Given the description of an element on the screen output the (x, y) to click on. 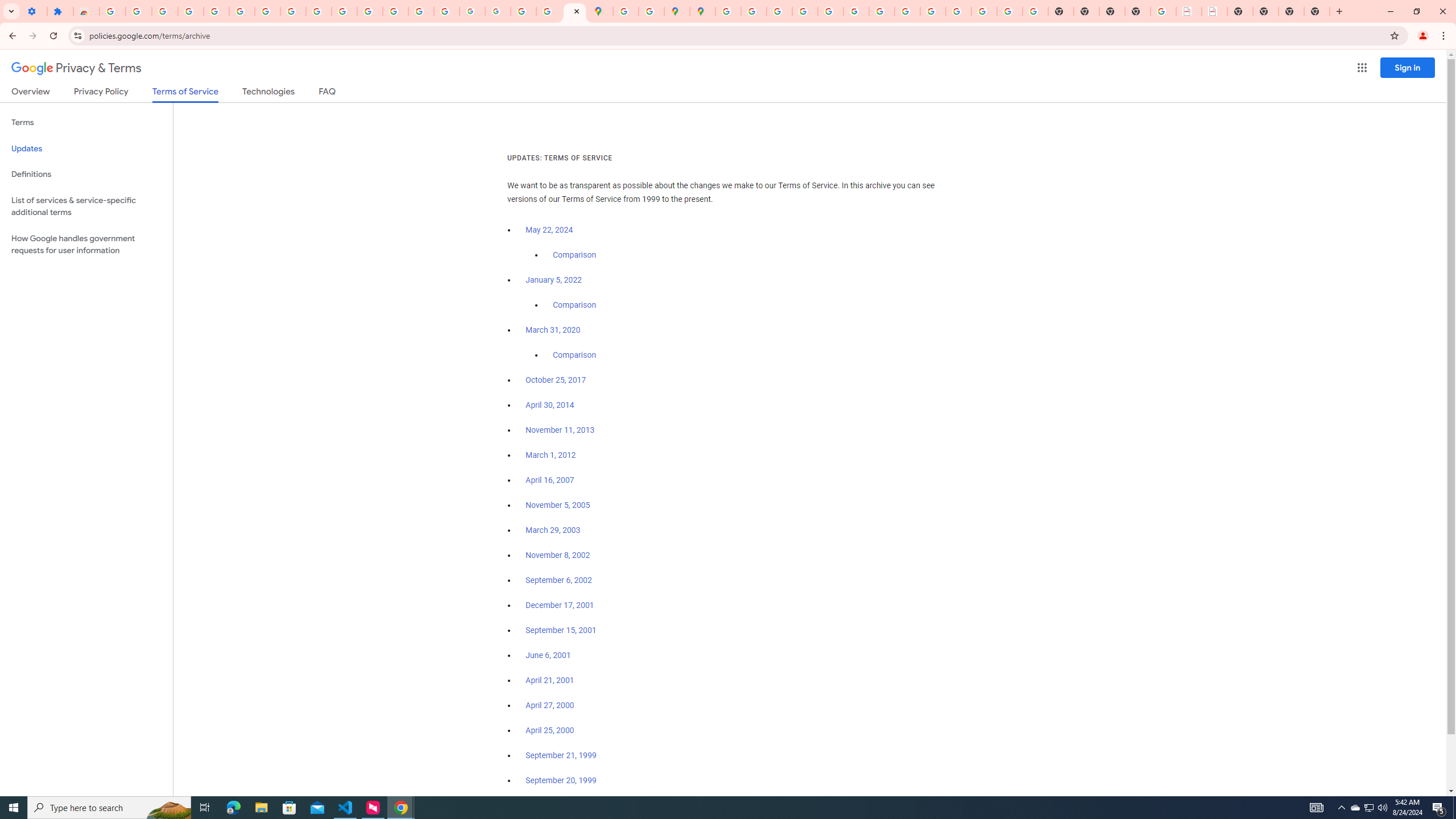
Sign in - Google Accounts (112, 11)
BAE Systems Brasil | BAE Systems (1213, 11)
